Given the description of an element on the screen output the (x, y) to click on. 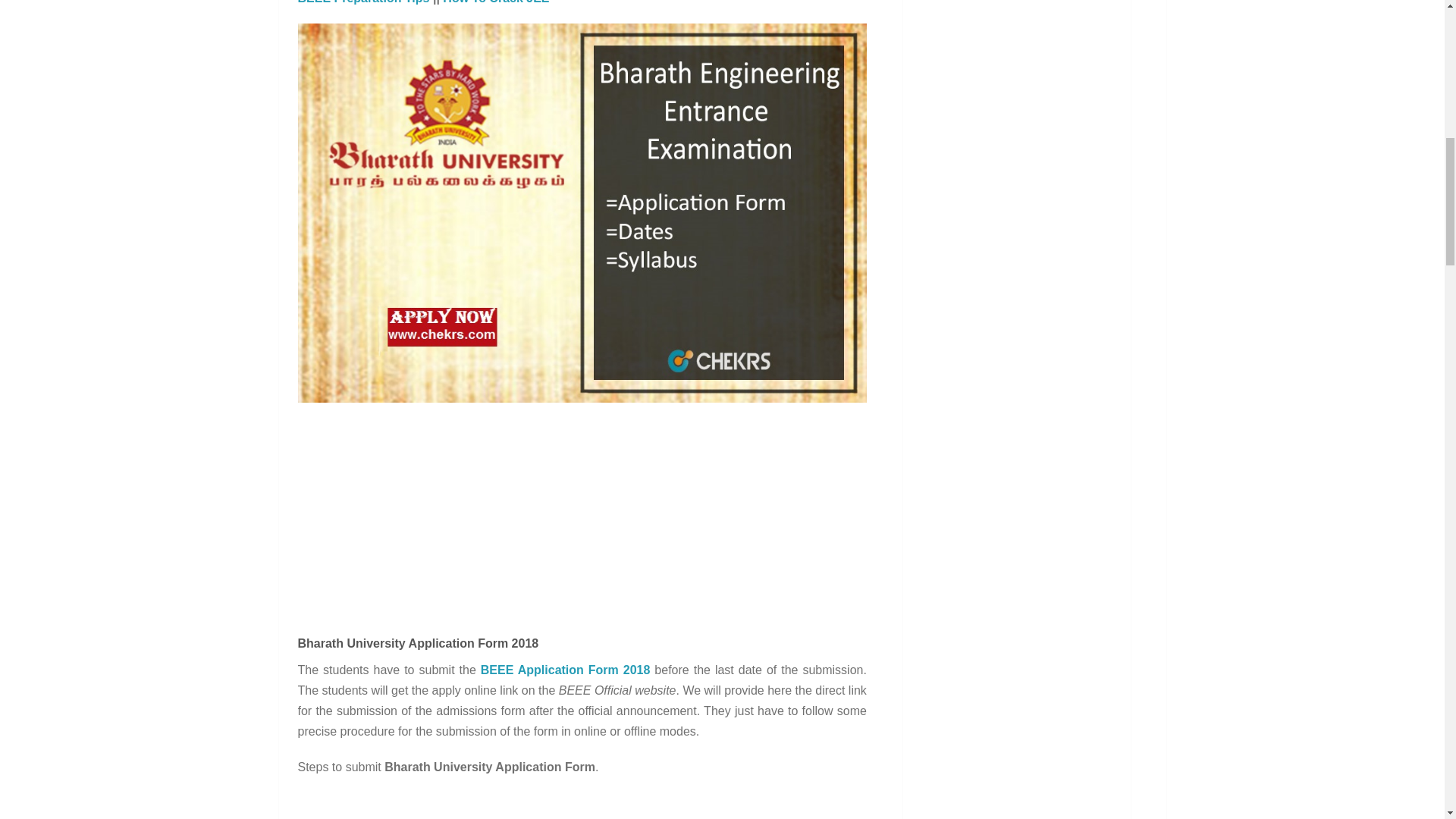
BEEE Preparation Tips (363, 2)
Advertisement (582, 523)
Advertisement (582, 805)
How To Crack JEE (495, 2)
BEEE Application Form 2018 (565, 669)
